Given the description of an element on the screen output the (x, y) to click on. 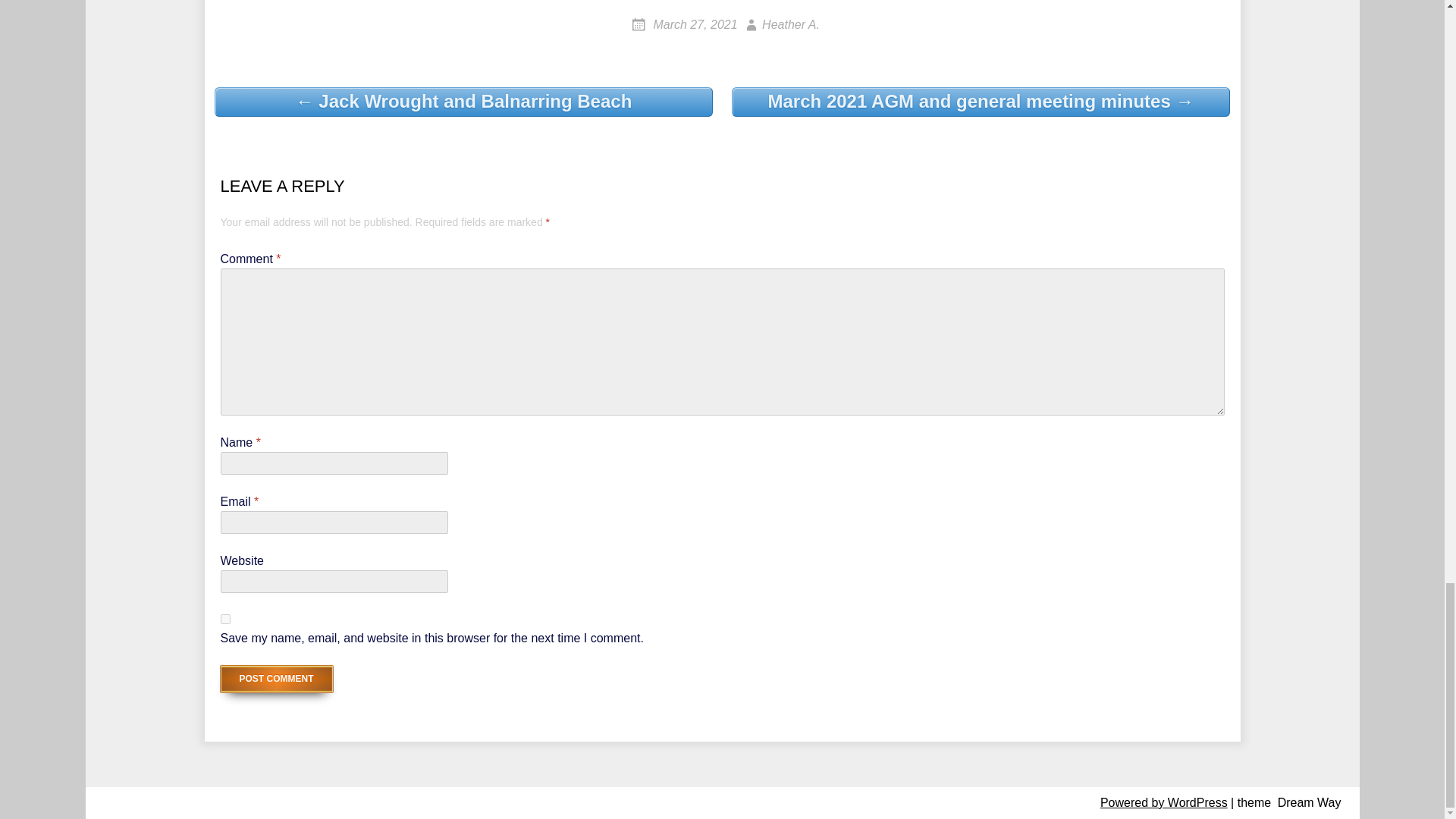
yes (224, 619)
Dream Way (1309, 802)
Post Comment (275, 678)
March 27, 2021 (684, 24)
March 27, 2021 (684, 24)
Powered by WordPress (1163, 802)
Heather A. (780, 24)
Heather A. (780, 24)
Post Comment (275, 678)
